Given the description of an element on the screen output the (x, y) to click on. 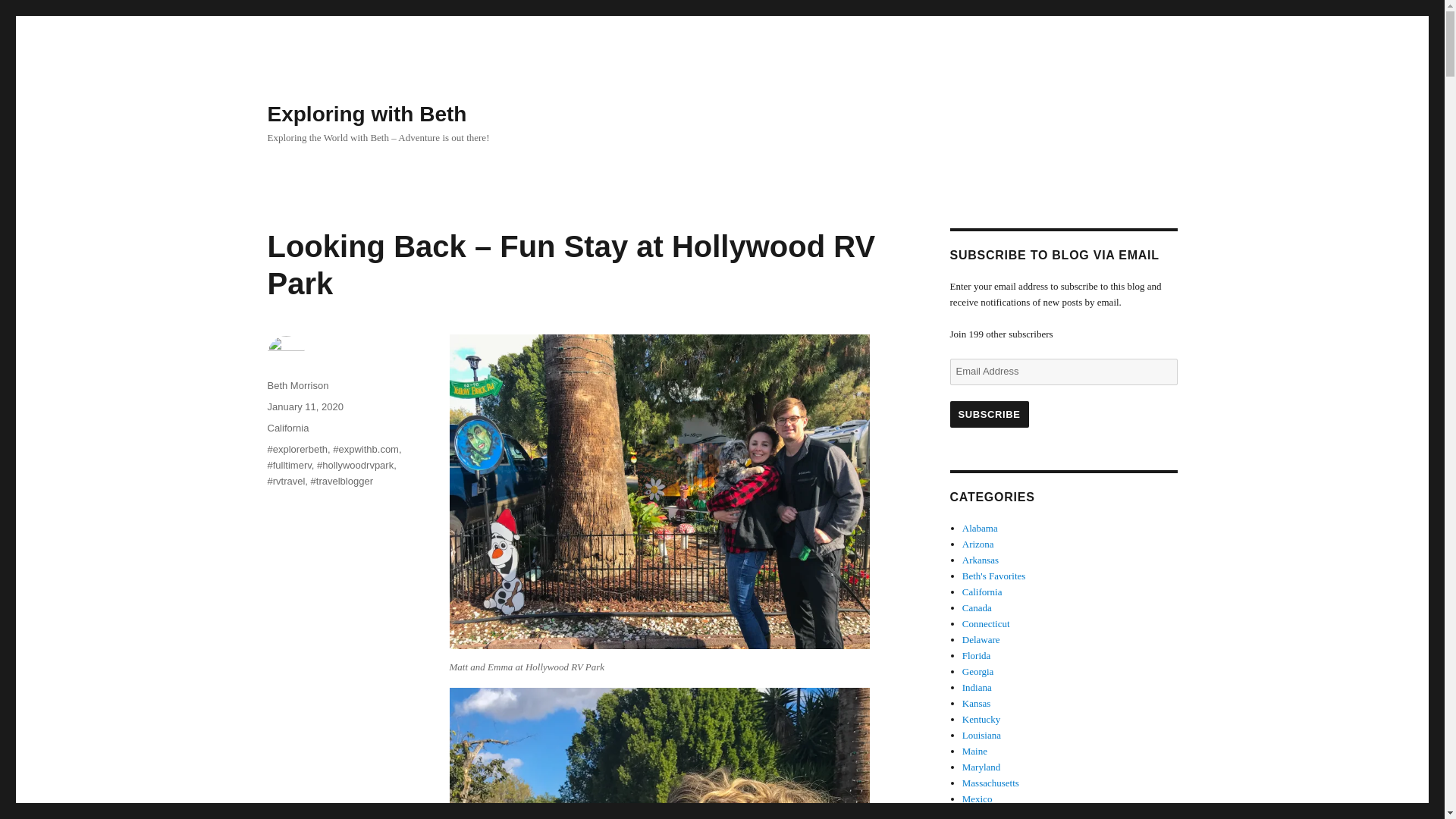
January 11, 2020 (304, 406)
Indiana (976, 686)
SUBSCRIBE (988, 414)
Arizona (978, 543)
Canada (976, 607)
Florida (976, 655)
Georgia (978, 671)
Delaware (981, 639)
Kansas (976, 703)
Alabama (979, 527)
